Given the description of an element on the screen output the (x, y) to click on. 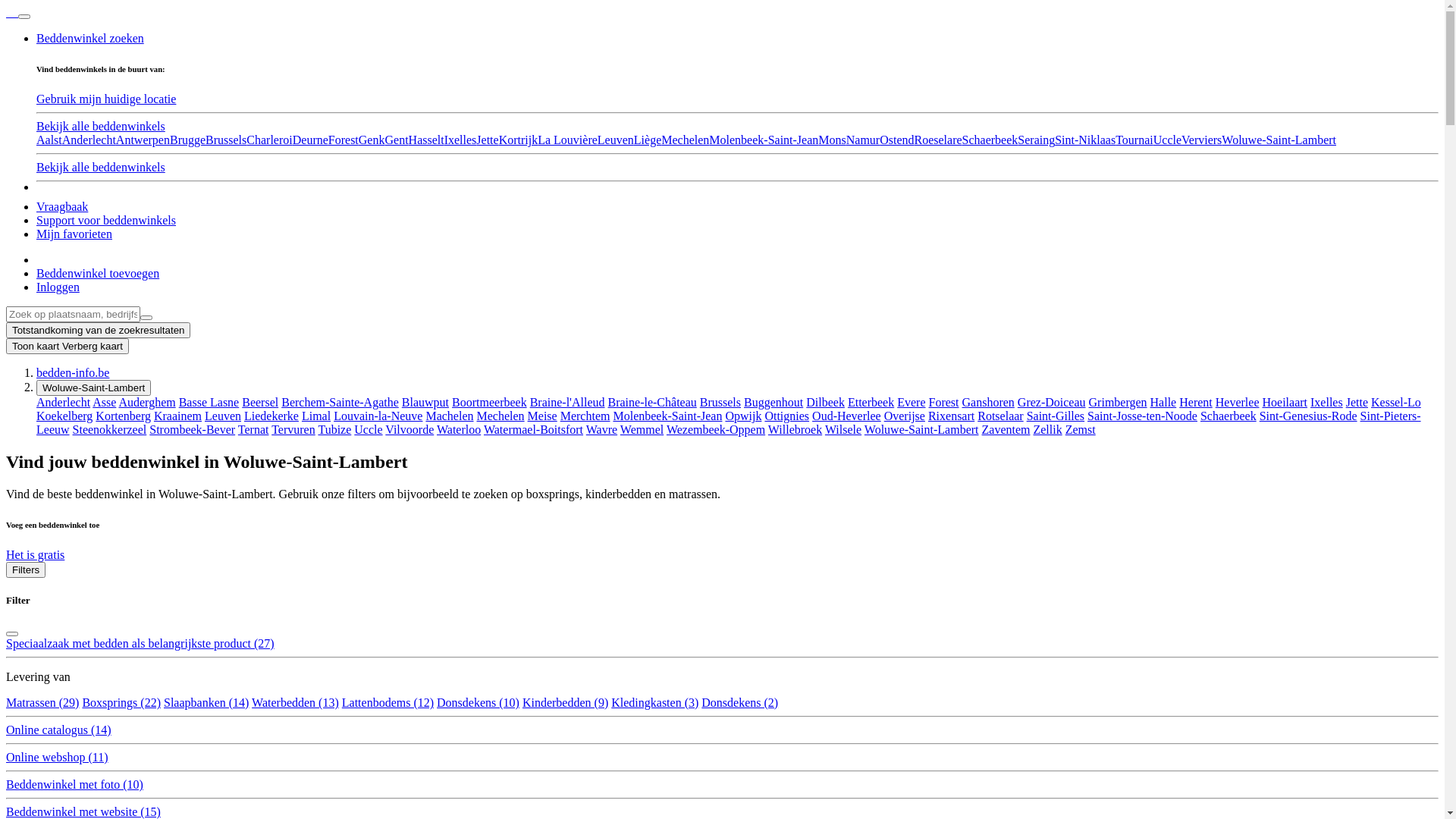
Wezembeek-Oppem Element type: text (715, 429)
Boxsprings (22) Element type: text (120, 702)
Brussels Element type: text (719, 401)
Sint-Genesius-Rode Element type: text (1308, 415)
Saint-Gilles Element type: text (1055, 415)
Schaerbeek Element type: text (1228, 415)
Beddenwinkel met foto (10) Element type: text (74, 784)
Grez-Doiceau Element type: text (1051, 401)
Het is gratis Element type: text (35, 554)
Jette Element type: text (487, 139)
Lattenbodems (12) Element type: text (387, 702)
Hasselt Element type: text (426, 139)
Meise Element type: text (542, 415)
Brussels Element type: text (225, 139)
Forest Element type: text (943, 401)
Woluwe-Saint-Lambert Element type: text (93, 387)
Tervuren Element type: text (293, 429)
Kessel-Lo Element type: text (1396, 401)
Charleroi Element type: text (268, 139)
Mechelen Element type: text (500, 415)
Tournai Element type: text (1134, 139)
Halle Element type: text (1163, 401)
Ostend Element type: text (896, 139)
Jette Element type: text (1357, 401)
Anderlecht Element type: text (89, 139)
Wavre Element type: text (601, 429)
Koekelberg Element type: text (64, 415)
Slaapbanken (14) Element type: text (205, 702)
Wilsele Element type: text (843, 429)
Waterbedden (13) Element type: text (294, 702)
Wemmel Element type: text (641, 429)
Leuven Element type: text (222, 415)
Ixelles Element type: text (1326, 401)
Uccle Element type: text (1167, 139)
Kinderbedden (9) Element type: text (565, 702)
Mons Element type: text (831, 139)
Uccle Element type: text (368, 429)
Kortrijk Element type: text (518, 139)
Gebruik mijn huidige locatie Element type: text (105, 98)
Merchtem Element type: text (585, 415)
Support voor beddenwinkels Element type: text (105, 219)
Forest Element type: text (343, 139)
Ganshoren Element type: text (988, 401)
Mechelen Element type: text (685, 139)
Ternat Element type: text (253, 429)
Kortenberg Element type: text (122, 415)
Liedekerke Element type: text (271, 415)
Online catalogus (14) Element type: text (58, 729)
Oud-Heverlee Element type: text (846, 415)
Waterloo Element type: text (458, 429)
Bekijk alle beddenwinkels Element type: text (100, 125)
Beersel Element type: text (259, 401)
Namur Element type: text (862, 139)
Rotselaar Element type: text (999, 415)
Heverlee Element type: text (1237, 401)
Donsdekens (2) Element type: text (739, 702)
Grimbergen Element type: text (1117, 401)
Willebroek Element type: text (795, 429)
Saint-Josse-ten-Noode Element type: text (1142, 415)
Zellik Element type: text (1046, 429)
Beddenwinkel met website (15) Element type: text (83, 811)
Beddenwinkel toevoegen Element type: text (97, 272)
Sint-Pieters-Leeuw Element type: text (728, 422)
Toon kaart Verberg kaart Element type: text (67, 346)
Basse Lasne Element type: text (208, 401)
Aalst Element type: text (49, 139)
Anderlecht Element type: text (63, 401)
Beddenwinkel zoeken Element type: text (90, 37)
Watermael-Boitsfort Element type: text (533, 429)
Totstandkoming van de zoekresultaten Element type: text (98, 330)
Limal Element type: text (315, 415)
Mijn favorieten Element type: text (74, 233)
Blauwput Element type: text (424, 401)
Bekijk alle beddenwinkels Element type: text (100, 166)
Filters Element type: text (25, 569)
Molenbeek-Saint-Jean Element type: text (666, 415)
Boortmeerbeek Element type: text (489, 401)
Ixelles Element type: text (460, 139)
Tubize Element type: text (334, 429)
Buggenhout Element type: text (773, 401)
Strombeek-Bever Element type: text (192, 429)
Deurne Element type: text (310, 139)
Speciaalzaak met bedden als belangrijkste product (27) Element type: text (140, 643)
Matrassen (29) Element type: text (42, 702)
Woluwe-Saint-Lambert Element type: text (921, 429)
Zaventem Element type: text (1006, 429)
Molenbeek-Saint-Jean Element type: text (763, 139)
Online webshop (11) Element type: text (57, 756)
Louvain-la-Neuve Element type: text (377, 415)
Hoeilaart Element type: text (1284, 401)
Berchem-Sainte-Agathe Element type: text (339, 401)
Donsdekens (10) Element type: text (477, 702)
Verviers Element type: text (1201, 139)
Genk Element type: text (371, 139)
Dilbeek Element type: text (825, 401)
Roeselare Element type: text (938, 139)
Gent Element type: text (395, 139)
Seraing Element type: text (1035, 139)
Kledingkasten (3) Element type: text (654, 702)
Braine-l'Alleud Element type: text (567, 401)
Inloggen Element type: text (57, 286)
Etterbeek Element type: text (870, 401)
Woluwe-Saint-Lambert Element type: text (1278, 139)
Evere Element type: text (911, 401)
Machelen Element type: text (449, 415)
Kraainem Element type: text (177, 415)
Opwijk Element type: text (742, 415)
Auderghem Element type: text (146, 401)
Rixensart Element type: text (951, 415)
Vilvoorde Element type: text (409, 429)
Vraagbaak Element type: text (61, 206)
Antwerpen Element type: text (142, 139)
Brugge Element type: text (187, 139)
Asse Element type: text (104, 401)
Steenokkerzeel Element type: text (109, 429)
Overijse Element type: text (904, 415)
Herent Element type: text (1195, 401)
Leuven Element type: text (615, 139)
Sint-Niklaas Element type: text (1084, 139)
Zemst Element type: text (1080, 429)
bedden-info.be Element type: text (72, 372)
Ottignies Element type: text (786, 415)
Schaerbeek Element type: text (990, 139)
